Given the description of an element on the screen output the (x, y) to click on. 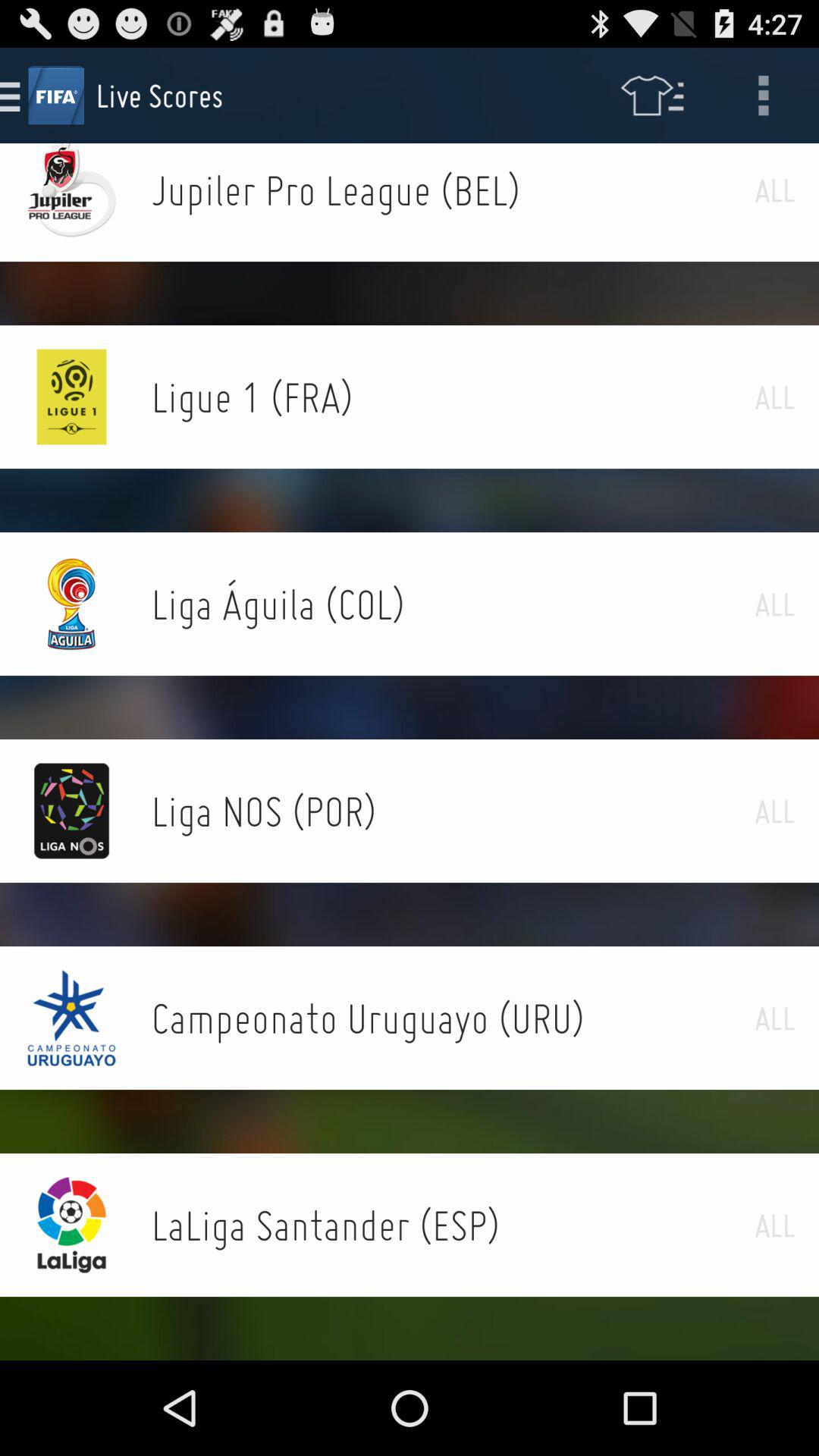
select the fourth icon from the top of the page (71, 604)
select the first icon right side of text live scores (651, 95)
click on the icon which is left to text ligue 1 fra (71, 397)
click on the text fifa which is left side of the text live scores (55, 95)
click on the image which is to the left side of jupiler pro league bel option (71, 190)
